Given the description of an element on the screen output the (x, y) to click on. 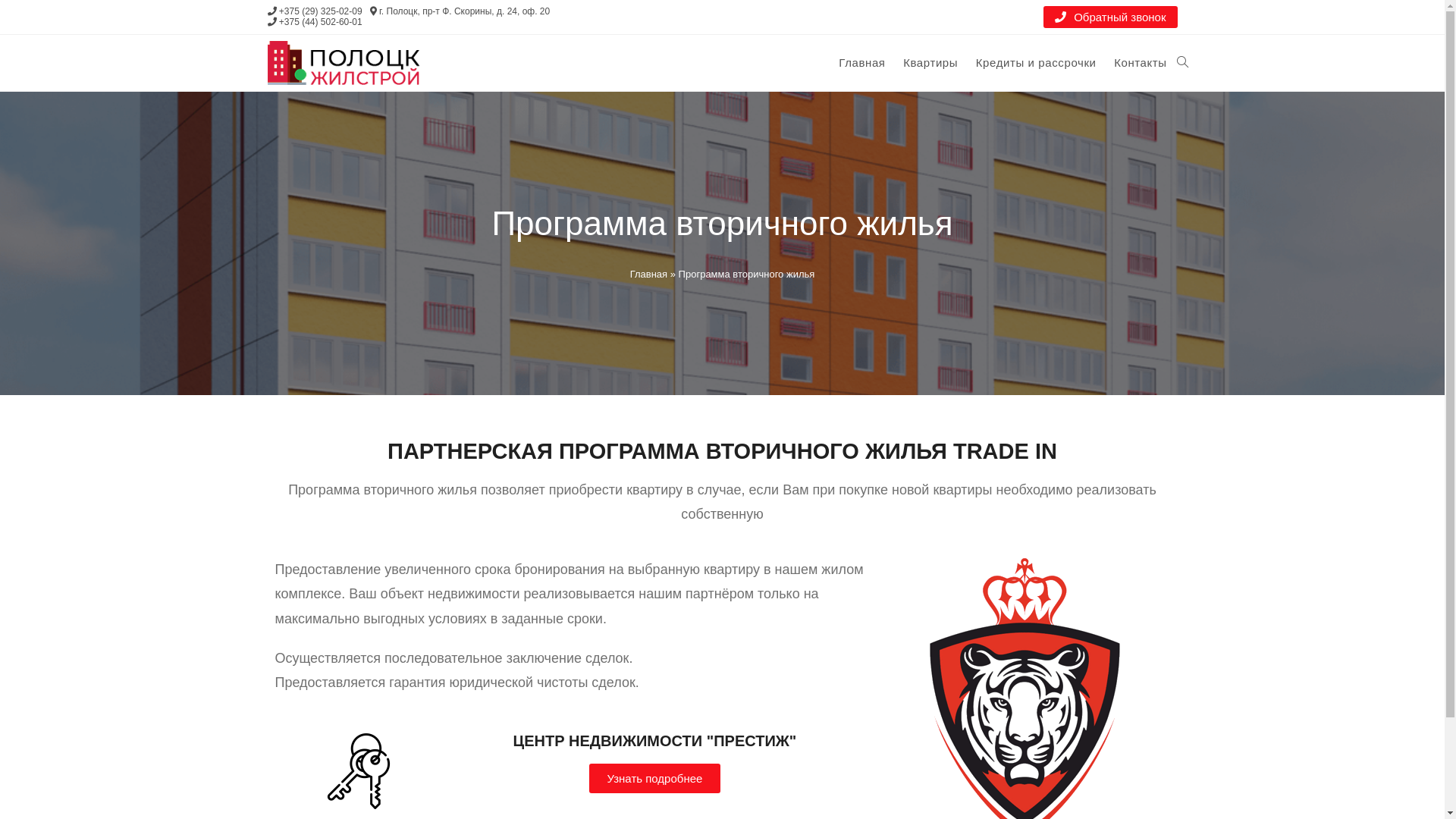
keys Element type: hover (358, 771)
